Given the description of an element on the screen output the (x, y) to click on. 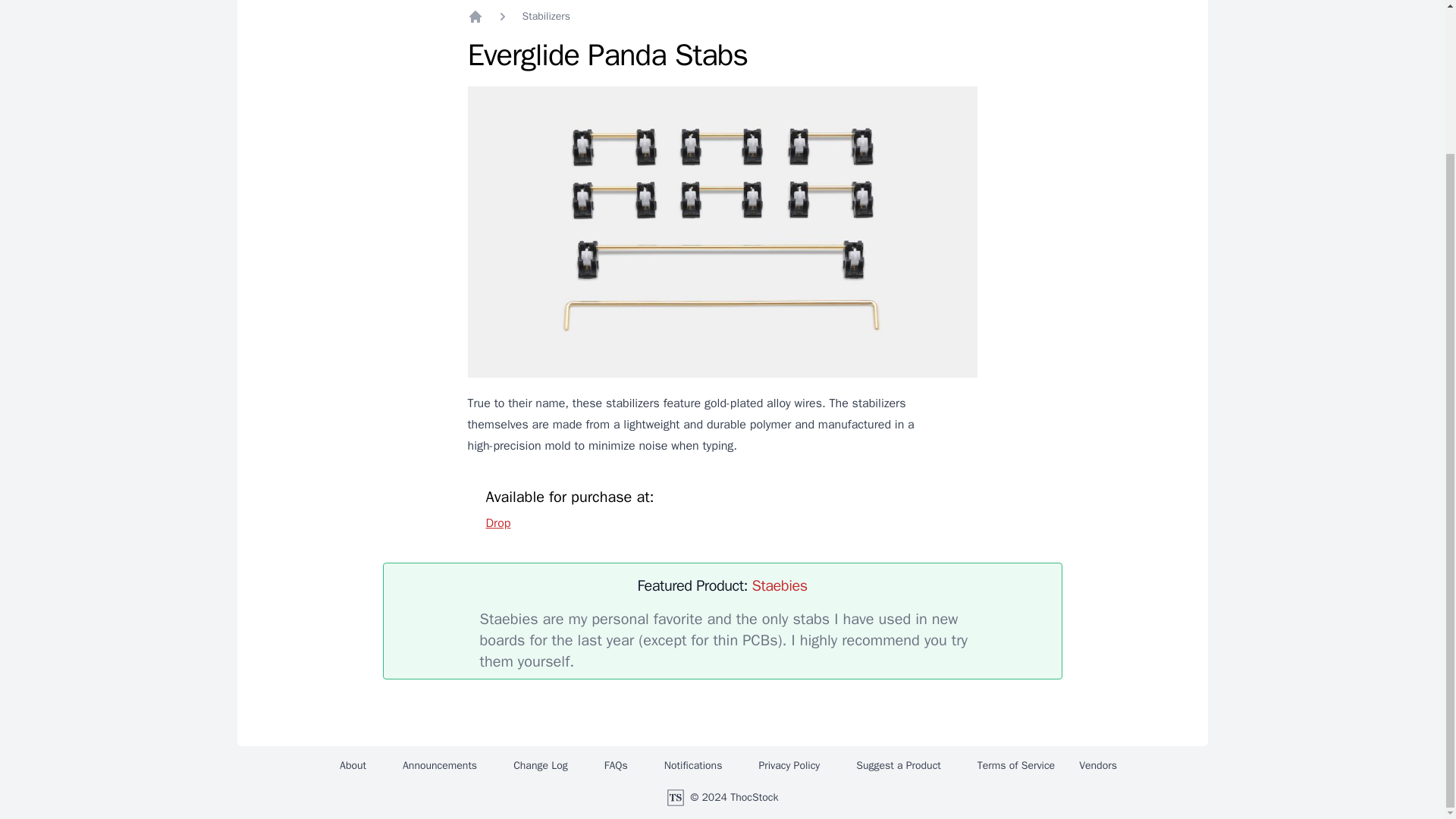
Announcements (439, 765)
Stabilizers (545, 16)
Change Log (539, 765)
Drop (497, 522)
Home (474, 16)
FAQs (616, 765)
Notifications (693, 765)
translation missing: en.shared.footer.announcements (440, 765)
About (352, 765)
Terms of Service (1009, 765)
